Given the description of an element on the screen output the (x, y) to click on. 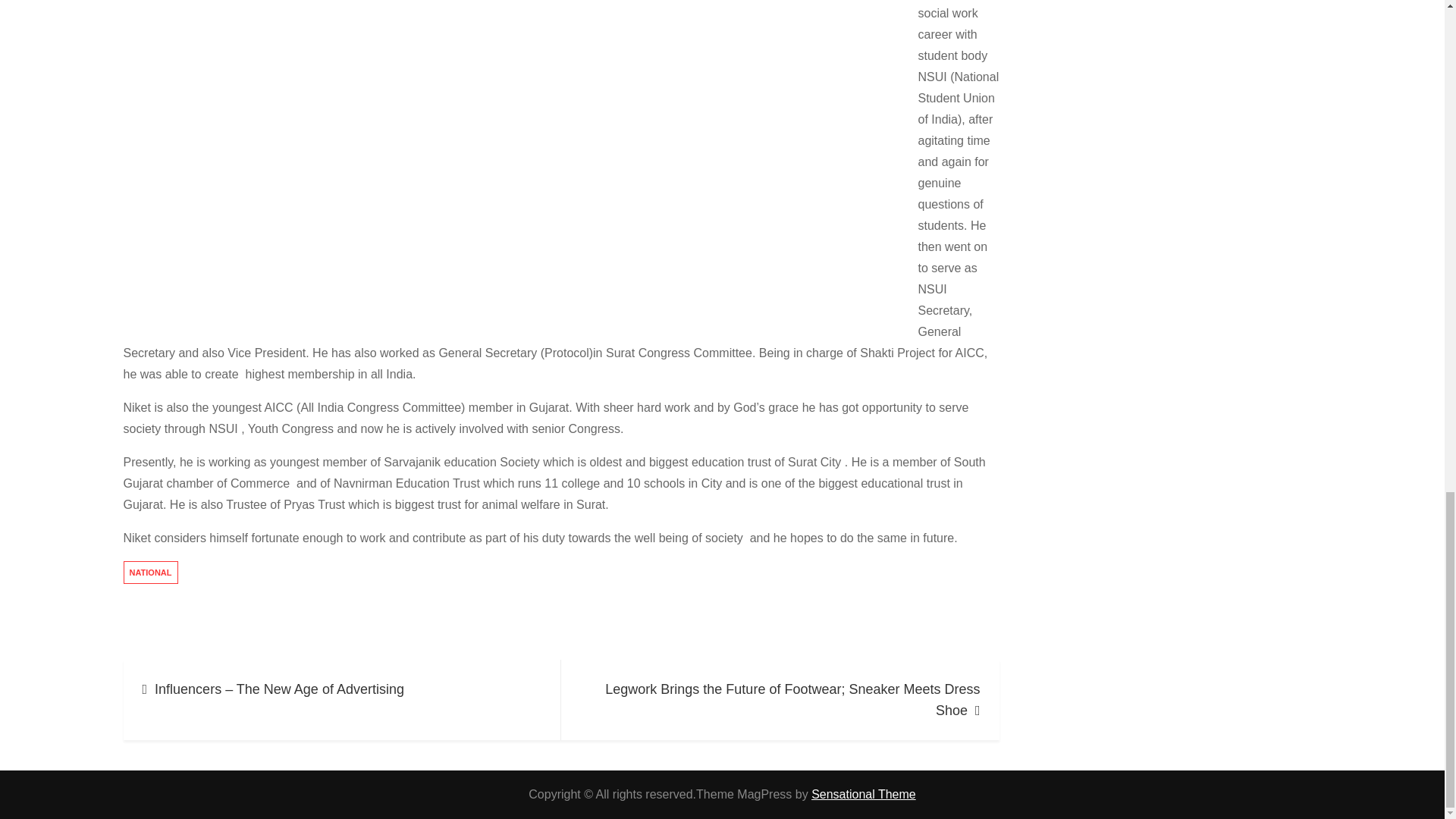
Sensational Theme (862, 793)
NATIONAL (149, 572)
